Given the description of an element on the screen output the (x, y) to click on. 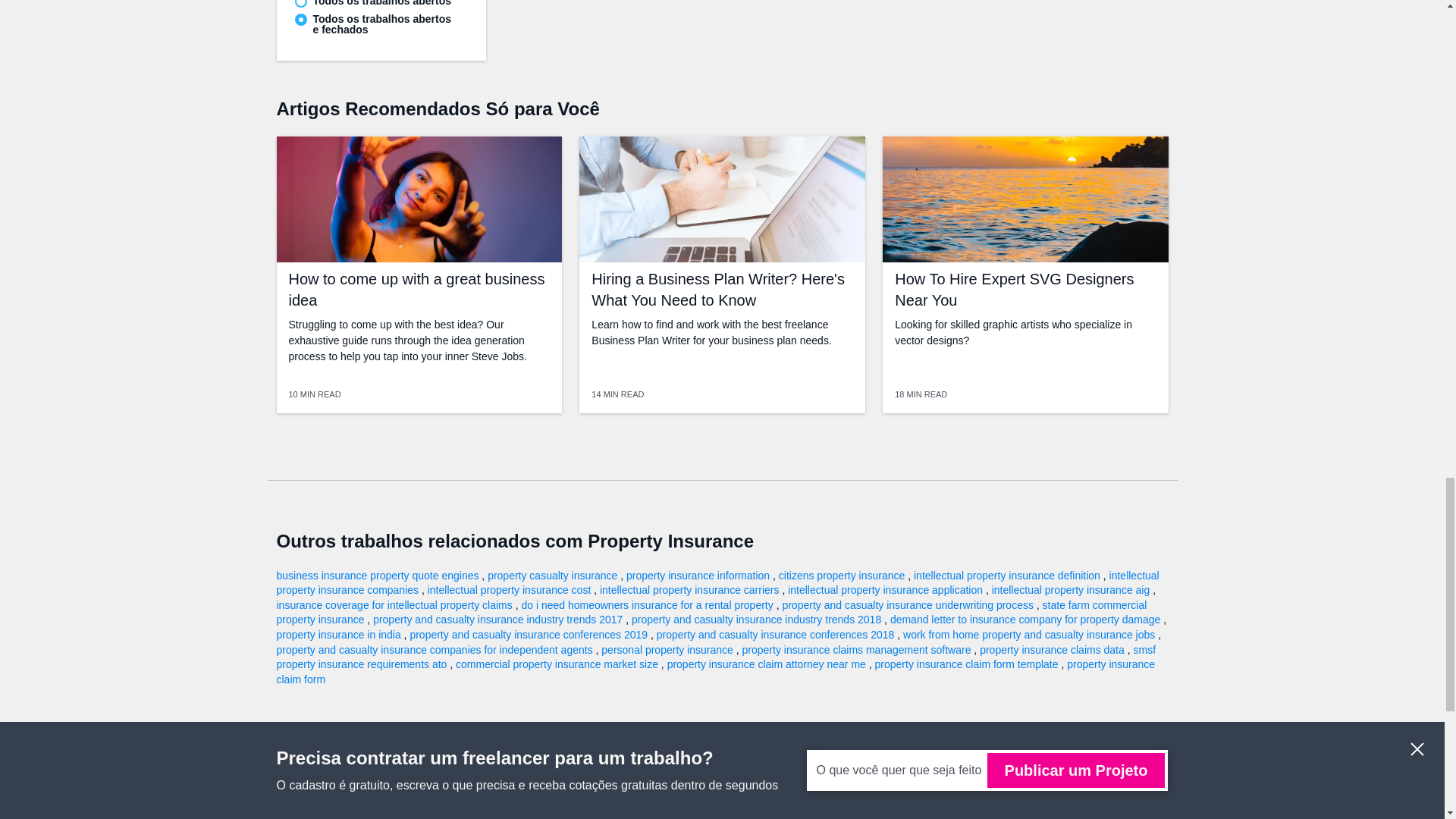
How to come up with a great business idea (416, 289)
Hiring a Business Plan Writer? Here's What You Need to Know (717, 289)
